Given the description of an element on the screen output the (x, y) to click on. 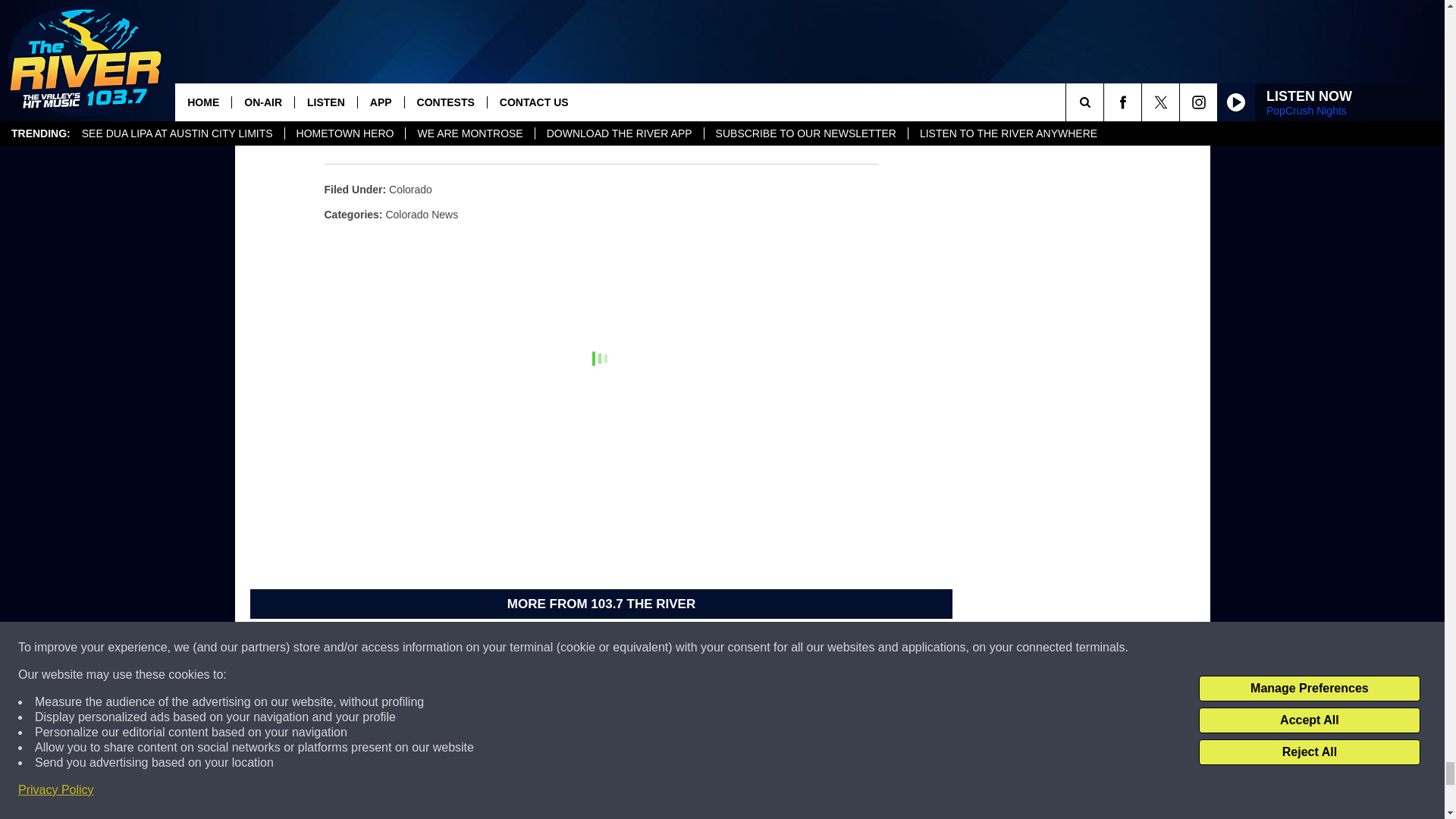
Email Address (600, 115)
